Given the description of an element on the screen output the (x, y) to click on. 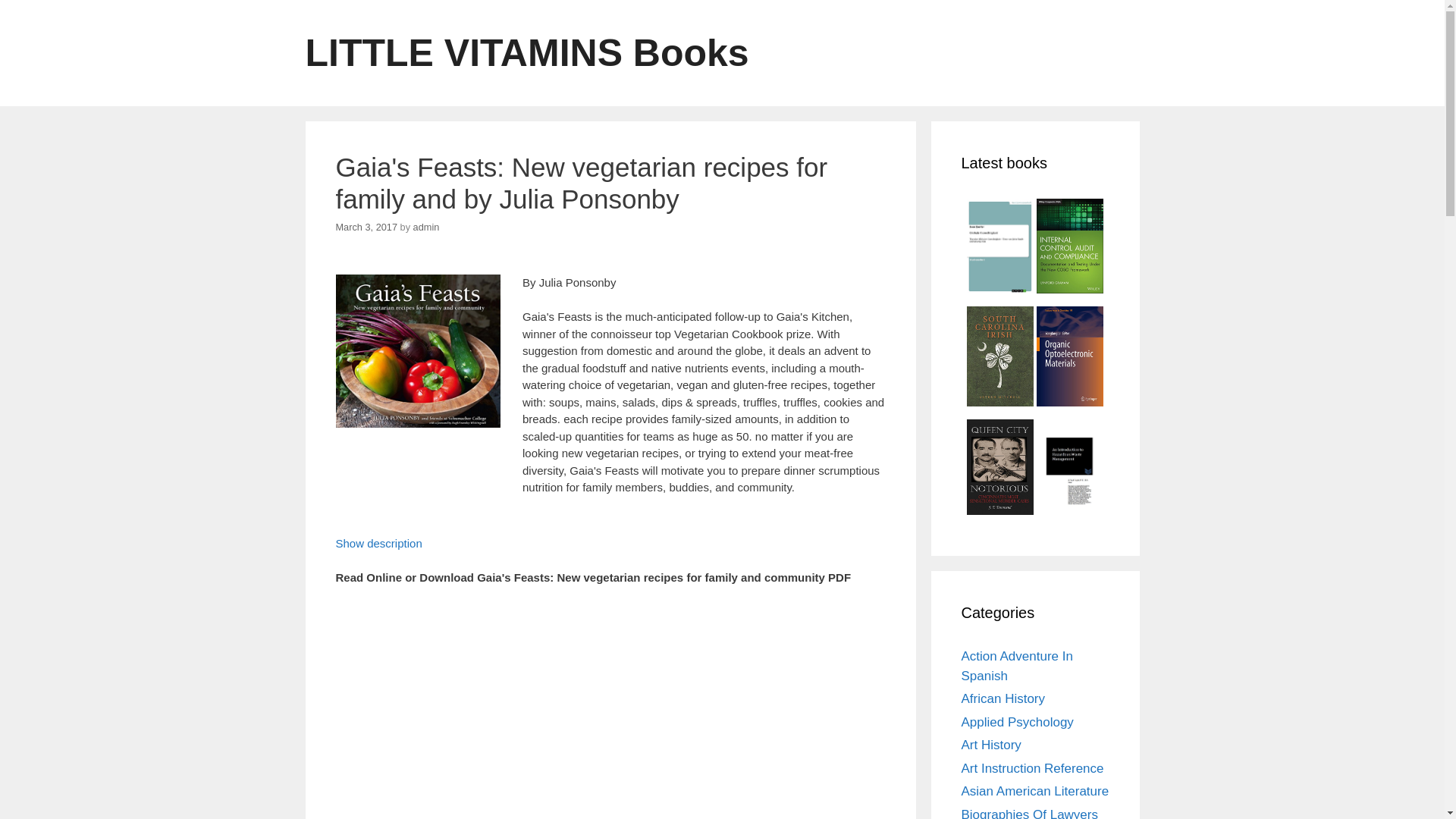
Skip to content (37, 8)
Applied Psychology (1017, 721)
March 3, 2017 (365, 226)
Asian American Literature (1034, 790)
LITTLE VITAMINS Books (526, 52)
Action Adventure In Spanish (1016, 666)
Art History (991, 744)
Show description (378, 543)
African History (1002, 698)
LITTLE VITAMINS Books (526, 52)
6:51 pm (365, 226)
Skip to content (37, 8)
Art Instruction Reference (1031, 768)
